Given the description of an element on the screen output the (x, y) to click on. 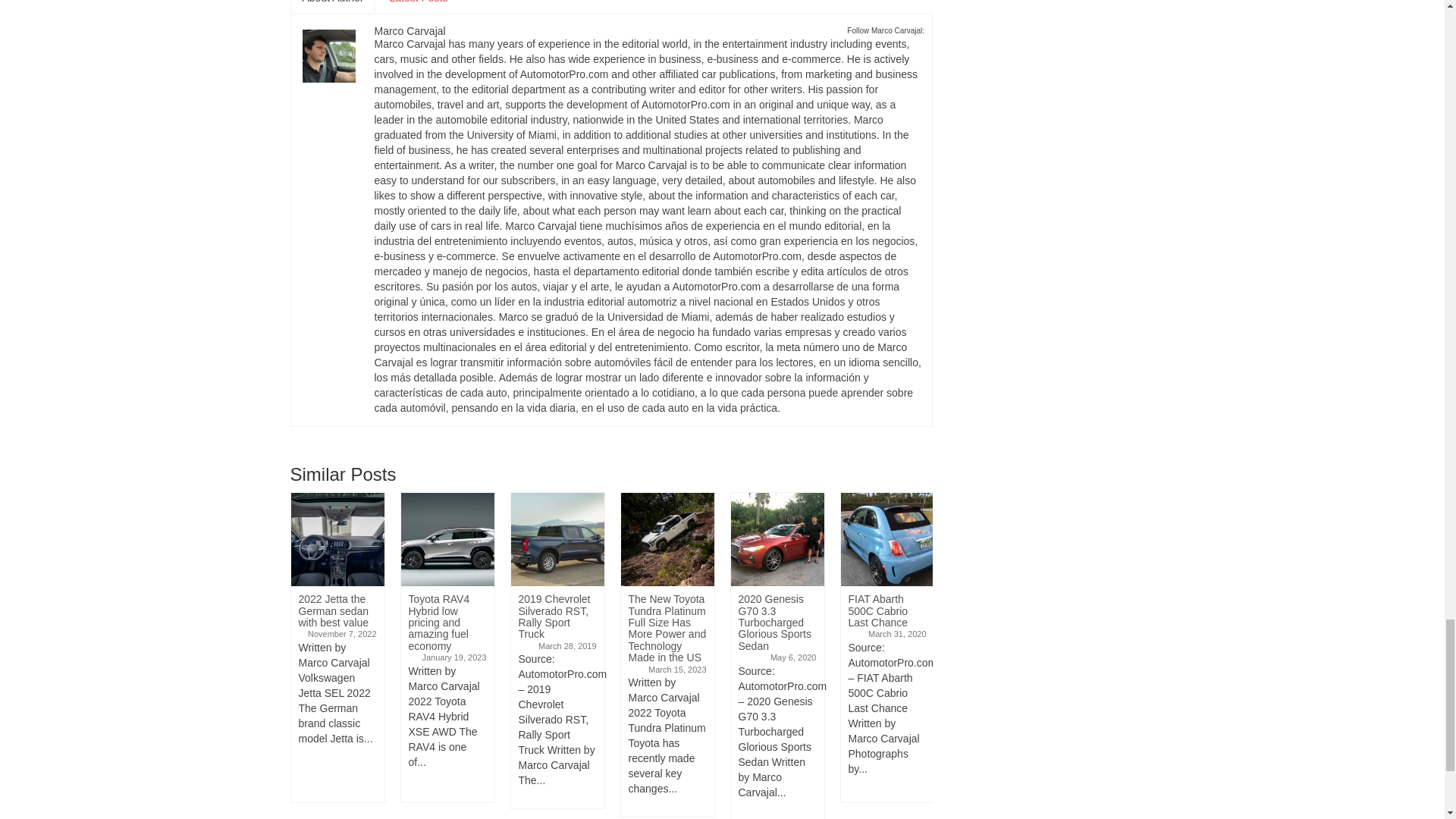
Toyota RAV4 Hybrid low pricing and amazing fuel economy (446, 539)
2019 Chevrolet Silverado RST, Rally Sport Truck (557, 539)
2022 Jetta the German sedan with best value (337, 539)
Posts by Marco Carvajal (409, 30)
